Given the description of an element on the screen output the (x, y) to click on. 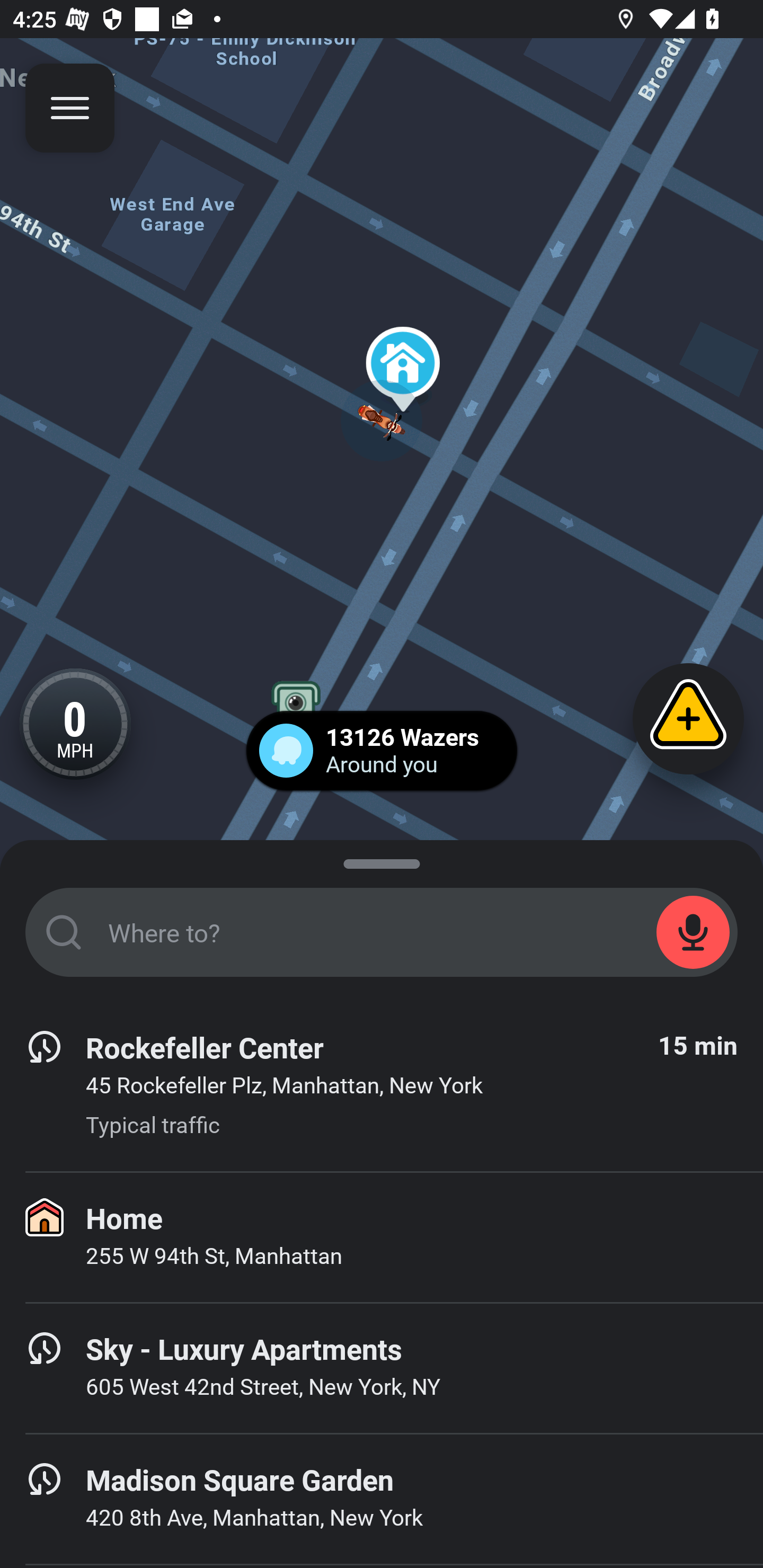
SUGGESTIONS_SHEET_DRAG_HANDLE (381, 860)
START_STATE_SEARCH_FIELD Where to? (381, 931)
Home 255 W 94th St, Manhattan (381, 1236)
